Given the description of an element on the screen output the (x, y) to click on. 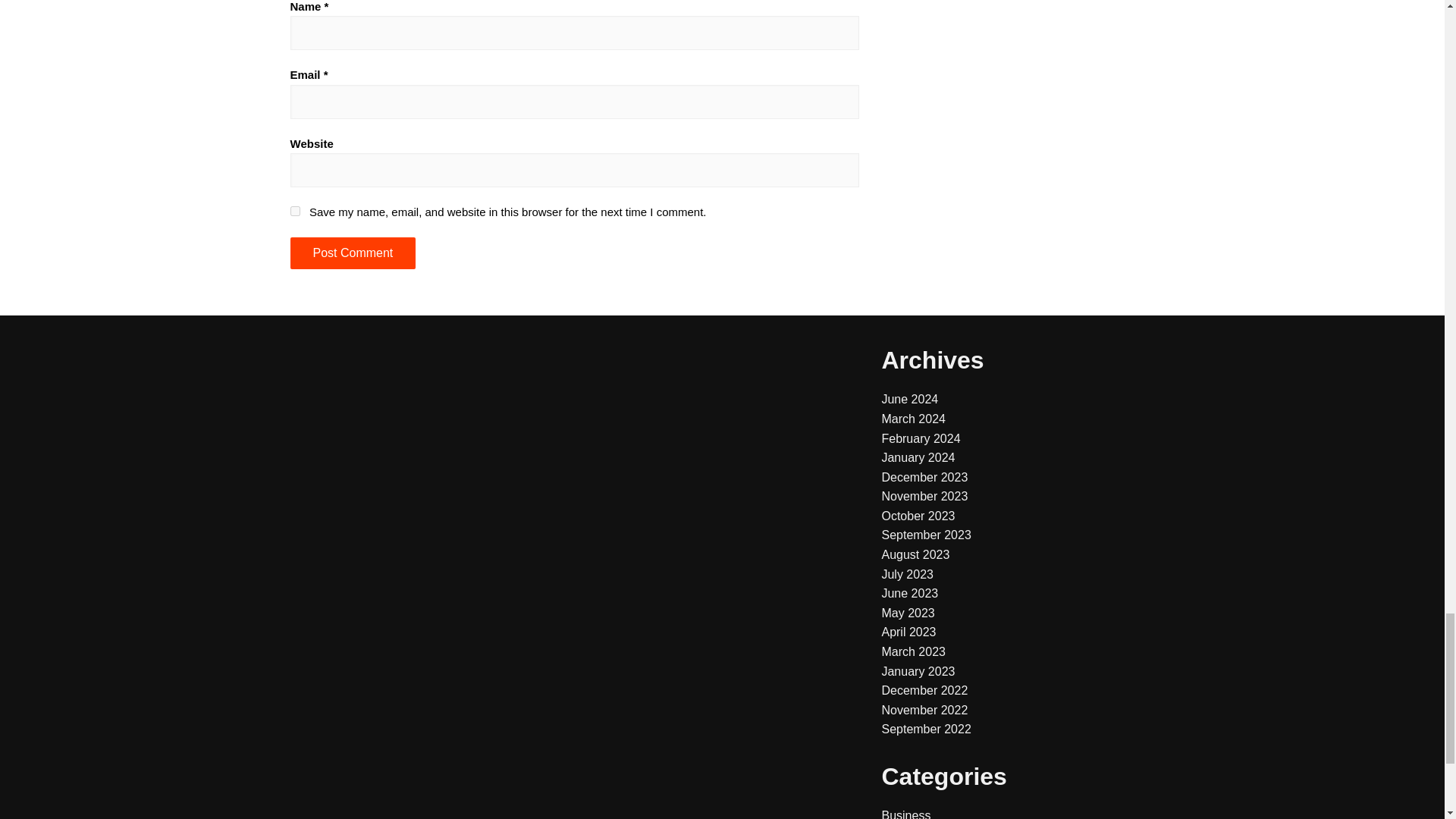
Post Comment (351, 253)
yes (294, 211)
